Given the description of an element on the screen output the (x, y) to click on. 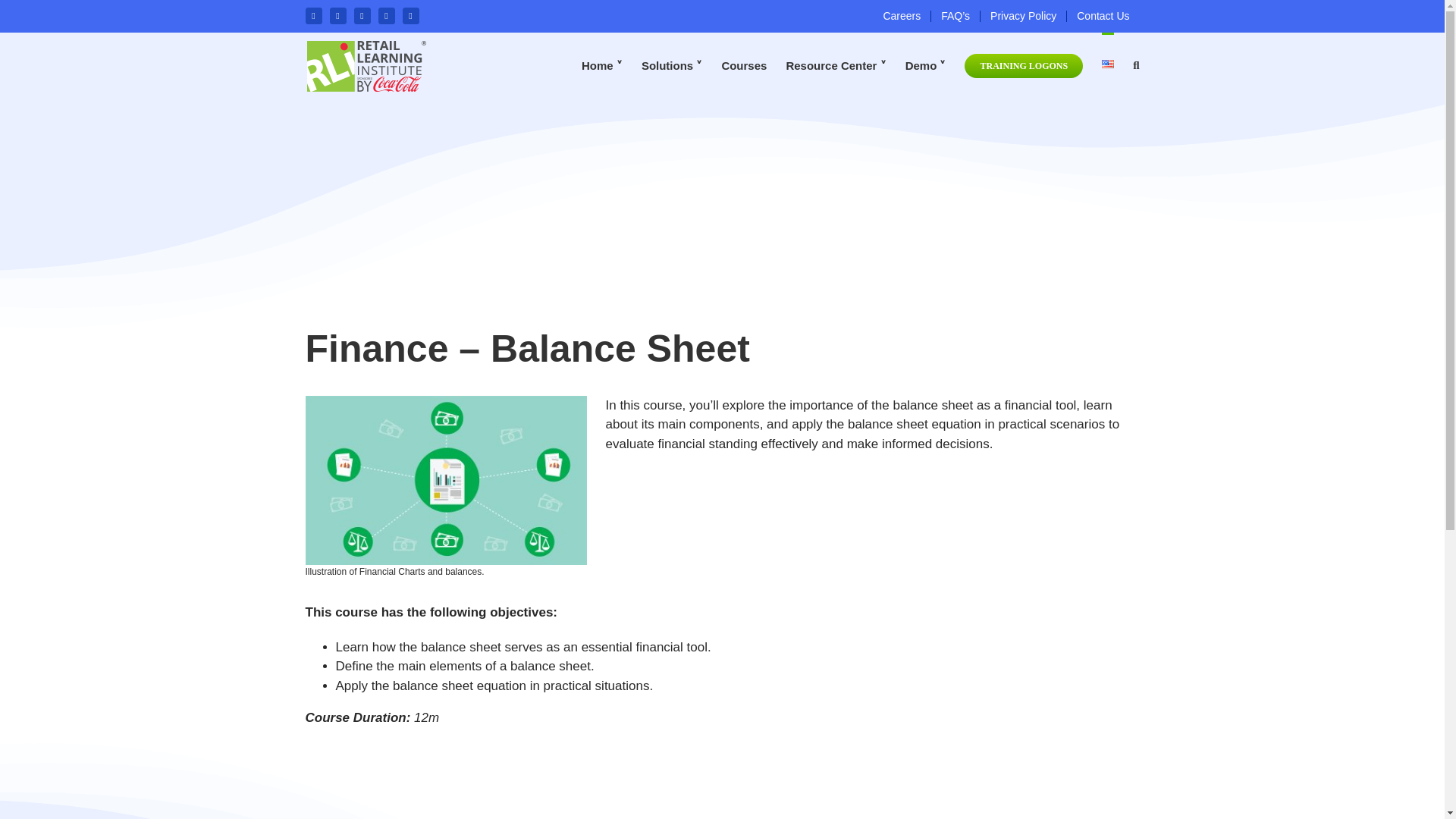
YouTube (410, 15)
Facebook (312, 15)
Instagram (361, 15)
Instagram (361, 15)
Privacy Policy (1022, 16)
Twitter (337, 15)
Twitter (337, 15)
Contact Us (1102, 16)
LinkedIn (385, 15)
Facebook (312, 15)
